Given the description of an element on the screen output the (x, y) to click on. 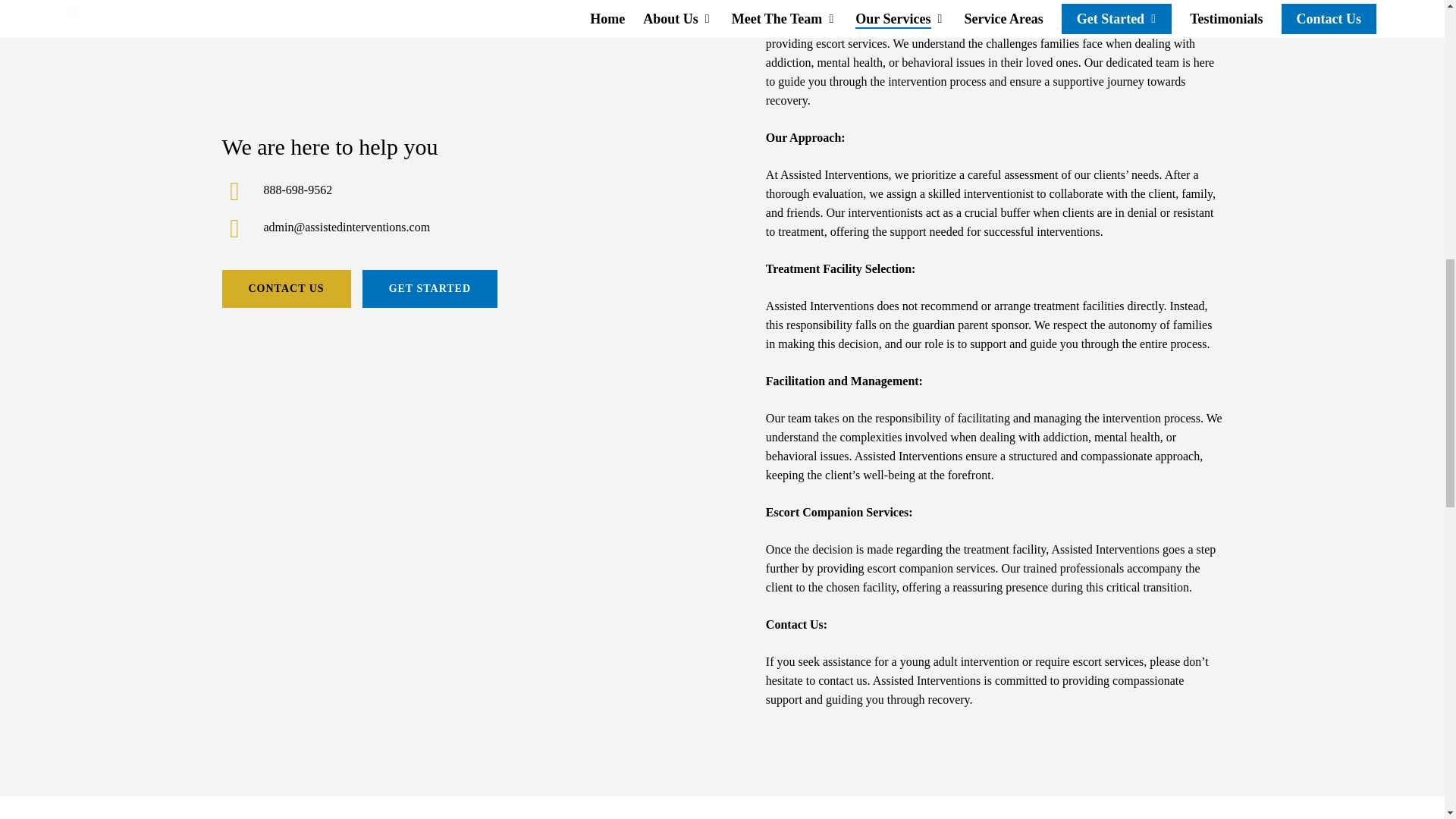
CONTACT US (285, 288)
GET STARTED (429, 288)
